Given the description of an element on the screen output the (x, y) to click on. 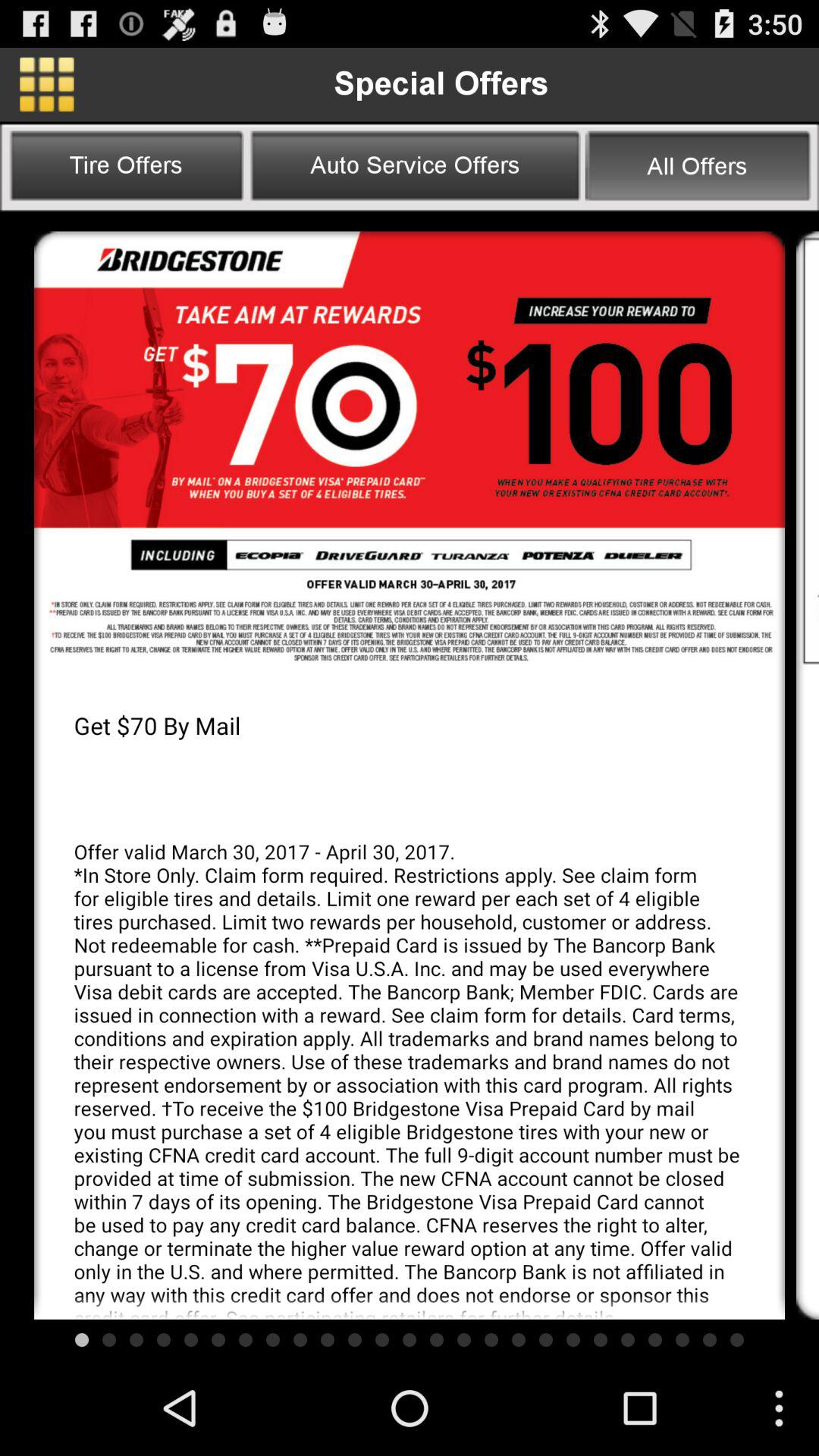
scroll down the page (807, 450)
